Given the description of an element on the screen output the (x, y) to click on. 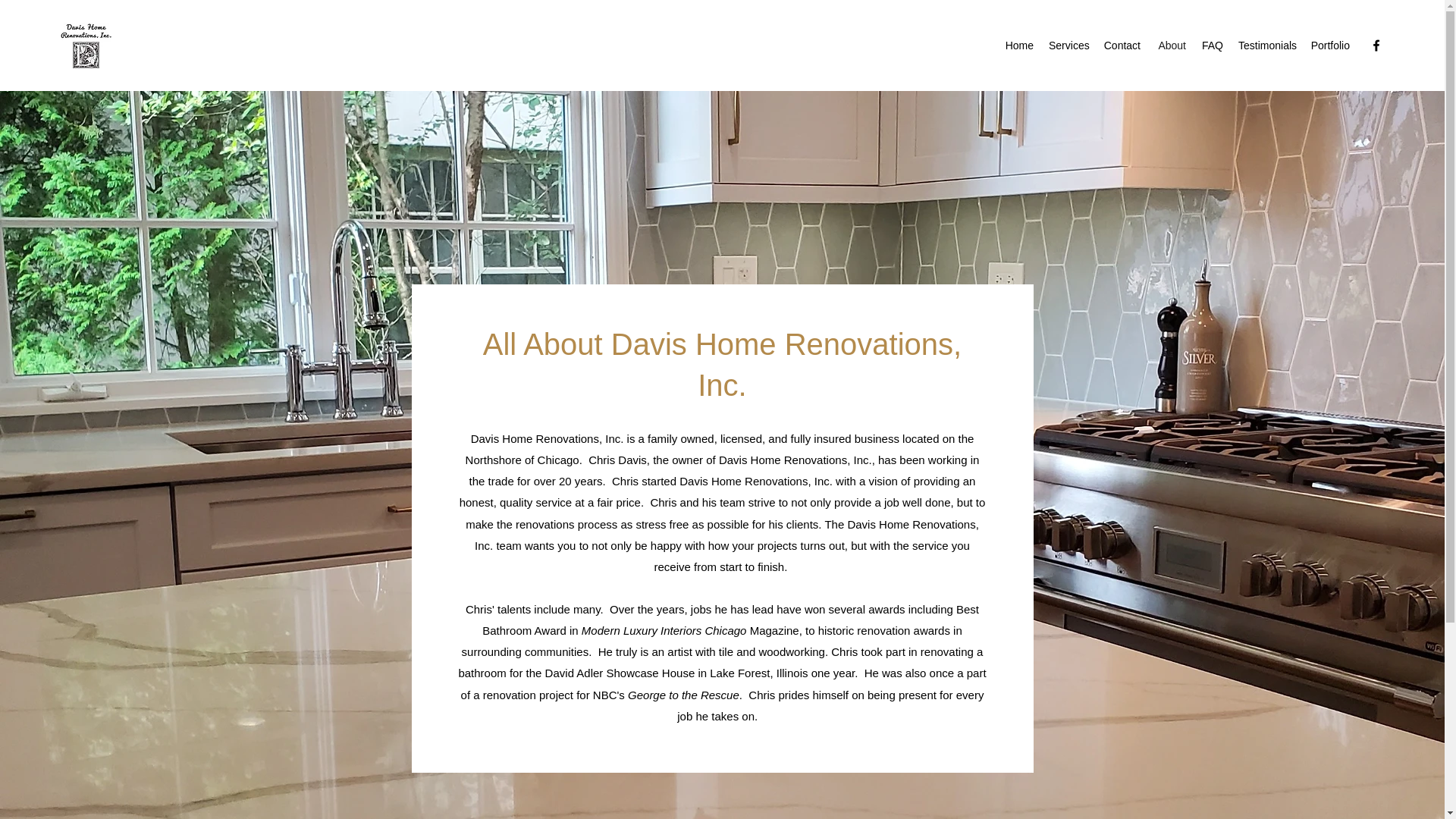
Contact (1121, 45)
Portfolio (1329, 45)
Services (1067, 45)
Home (1019, 45)
About (1170, 45)
Testimonials (1266, 45)
FAQ (1211, 45)
